Given the description of an element on the screen output the (x, y) to click on. 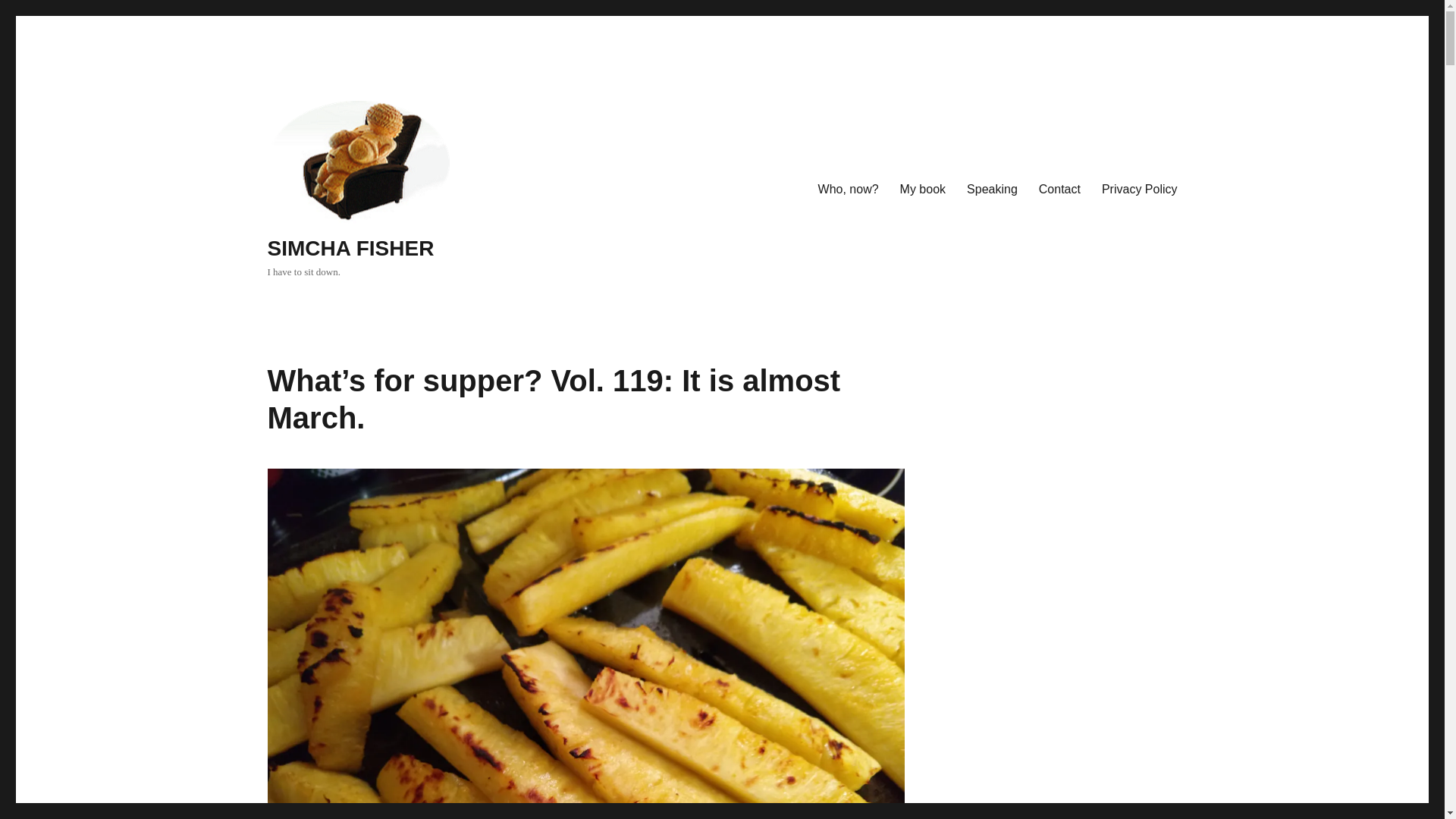
Who, now? (848, 189)
Privacy Policy (1139, 189)
SIMCHA FISHER (349, 248)
My book (922, 189)
Speaking (991, 189)
Contact (1058, 189)
